Given the description of an element on the screen output the (x, y) to click on. 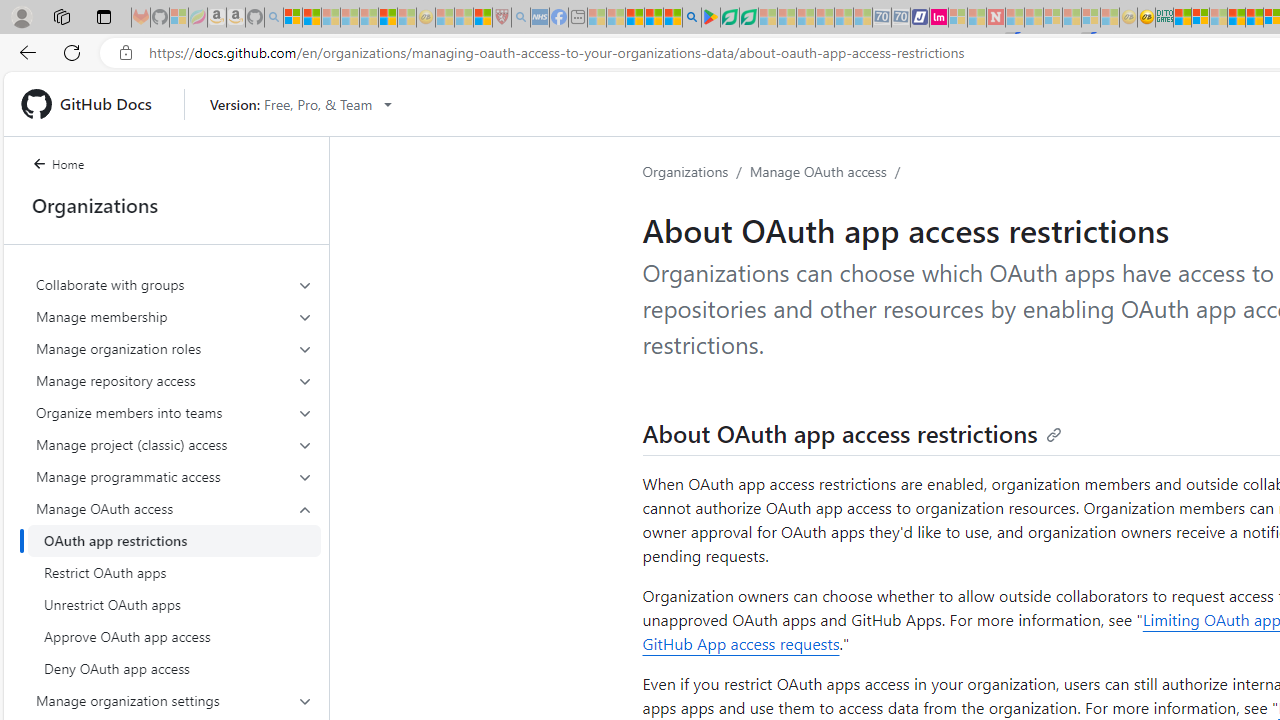
Restrict OAuth apps (174, 572)
Manage OAuth access/ (828, 171)
Manage programmatic access (174, 476)
